Given the description of an element on the screen output the (x, y) to click on. 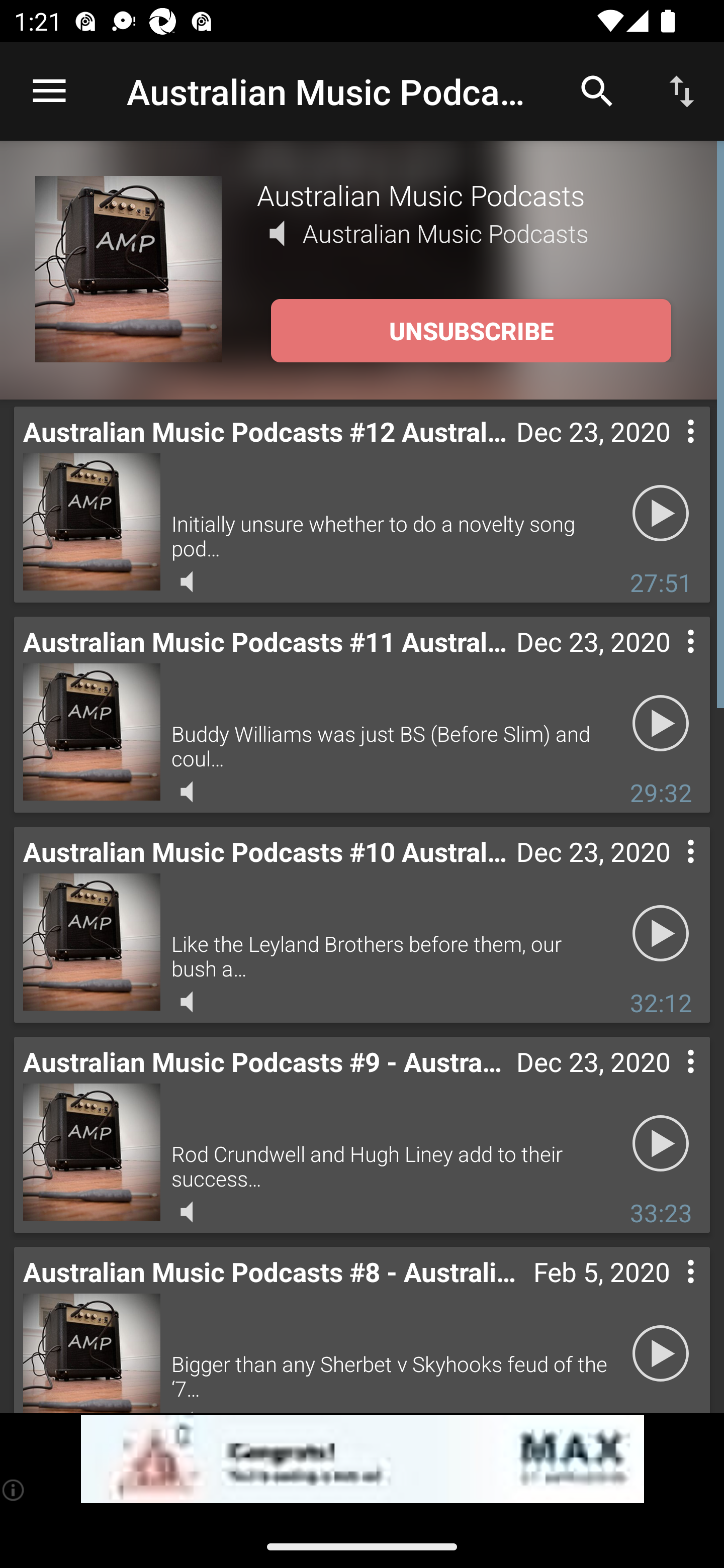
Open navigation sidebar (49, 91)
Search (597, 90)
Sort (681, 90)
UNSUBSCRIBE (470, 330)
Contextual menu (668, 451)
Play (660, 513)
Contextual menu (668, 661)
Play (660, 723)
Contextual menu (668, 870)
Play (660, 933)
Contextual menu (668, 1080)
Play (660, 1143)
Contextual menu (668, 1290)
Play (660, 1353)
app-monetization (362, 1459)
(i) (14, 1489)
